Given the description of an element on the screen output the (x, y) to click on. 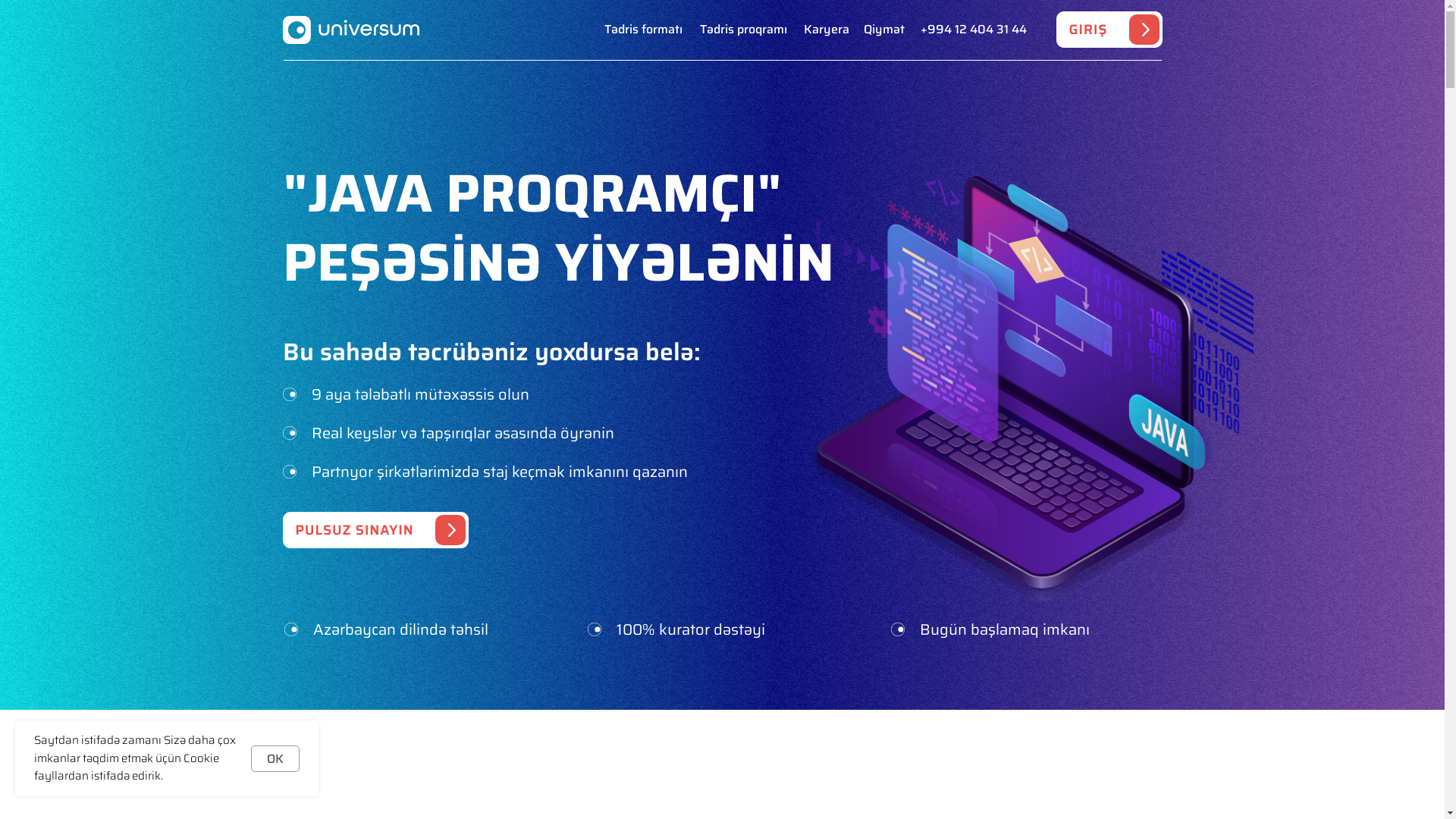
+994 12 404 31 44 Element type: text (973, 29)
Karyera Element type: text (826, 29)
